Given the description of an element on the screen output the (x, y) to click on. 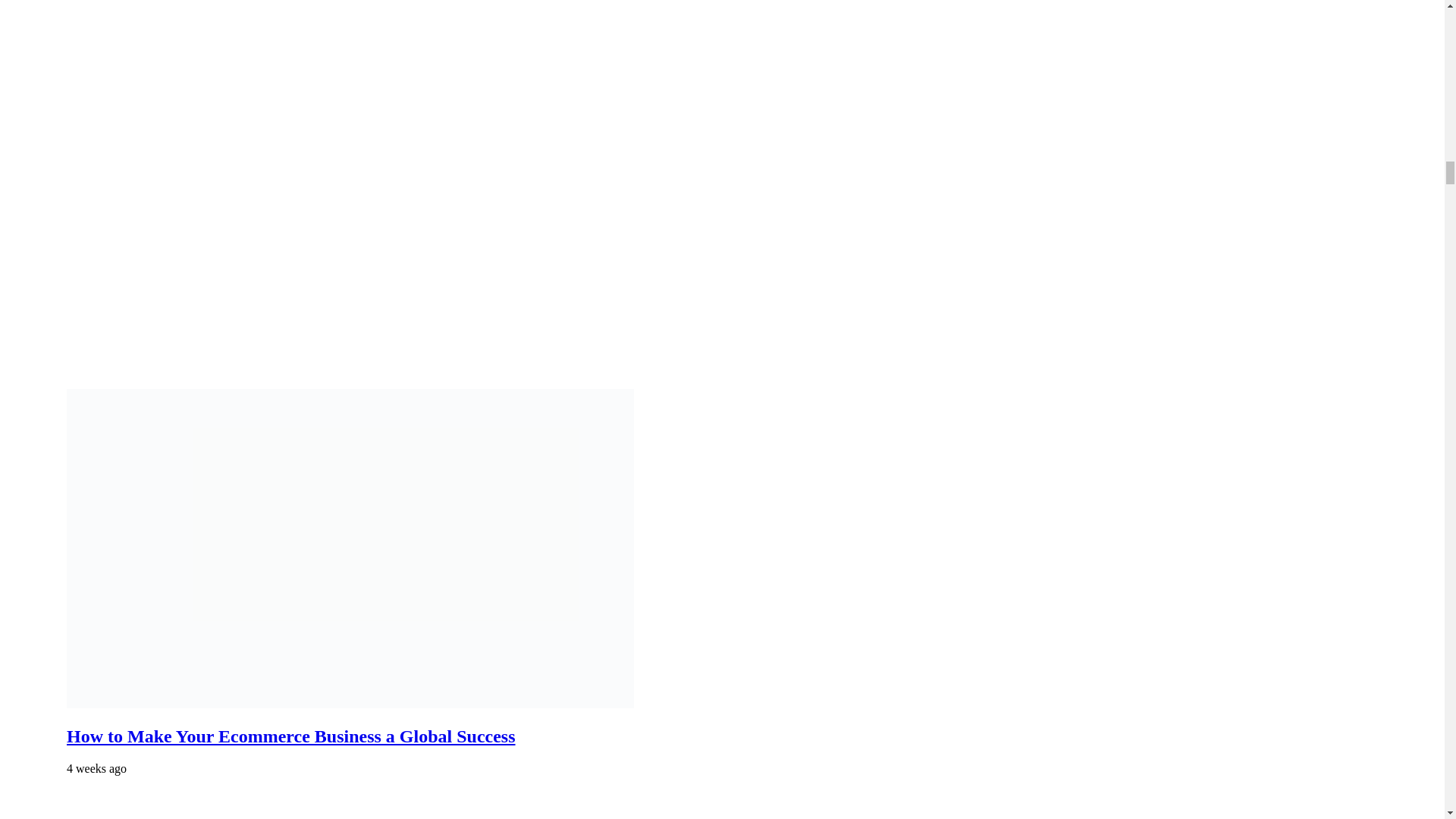
How to Make Your Ecommerce Business a Global Success (290, 736)
